Given the description of an element on the screen output the (x, y) to click on. 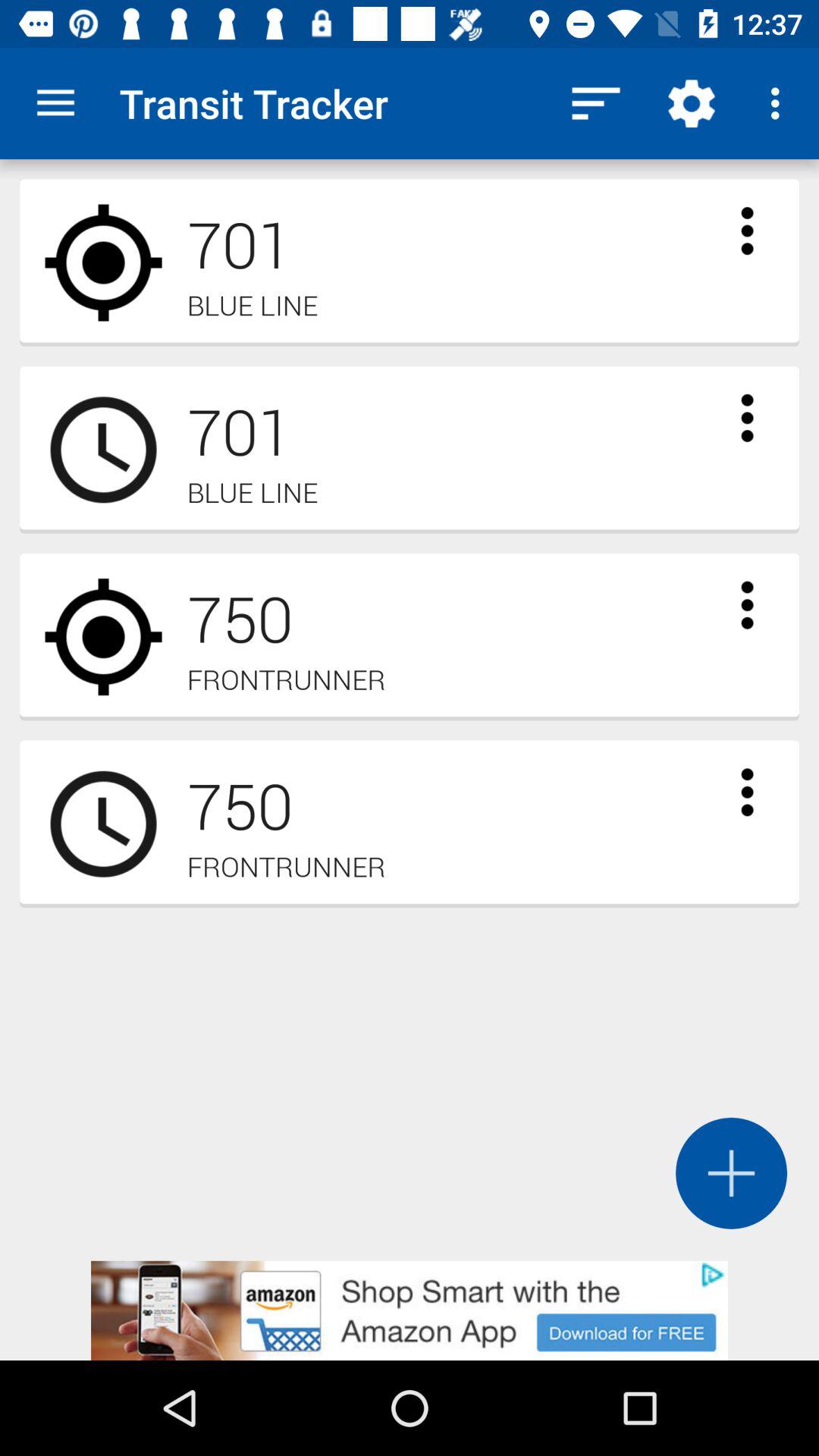
brings up options (747, 792)
